Given the description of an element on the screen output the (x, y) to click on. 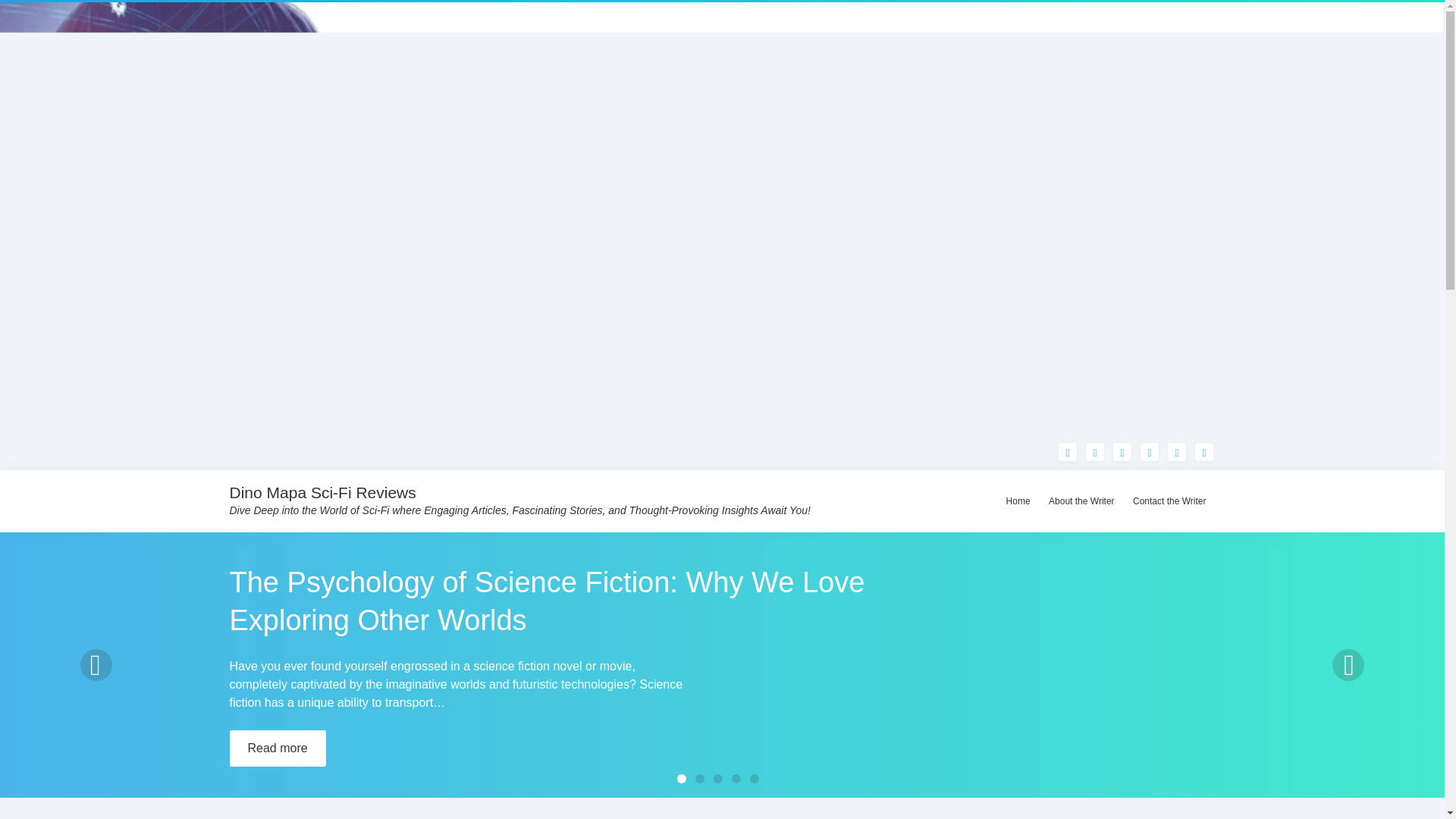
Dino Mapa Sci-Fi Reviews (321, 492)
Read more (276, 747)
Home (1018, 500)
Contact the Writer (1169, 500)
About the Writer (1080, 500)
Home (245, 818)
